Given the description of an element on the screen output the (x, y) to click on. 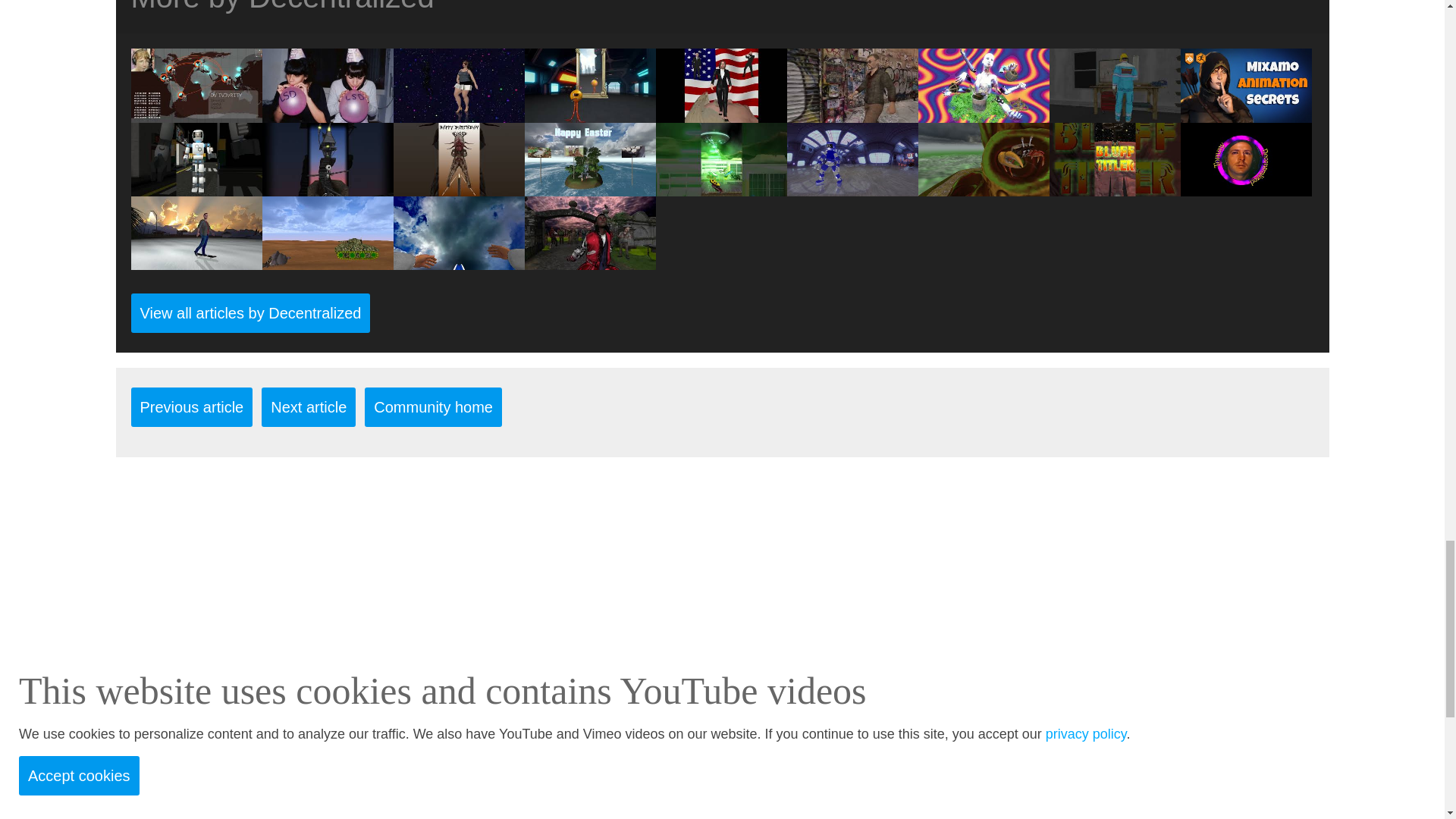
Fluorescent light Glow test (1114, 111)
Happy Birthday Nightmare (327, 186)
Animated Kamala Harris Models (720, 111)
Together We Can (982, 111)
Happy Birthday Video (458, 186)
Blender 4.0 (1245, 111)
Gearing Up For a Big Adventure (196, 186)
Me Research Big Data (196, 111)
UGLY (590, 111)
Back Alley Adventures (852, 111)
